Given the description of an element on the screen output the (x, y) to click on. 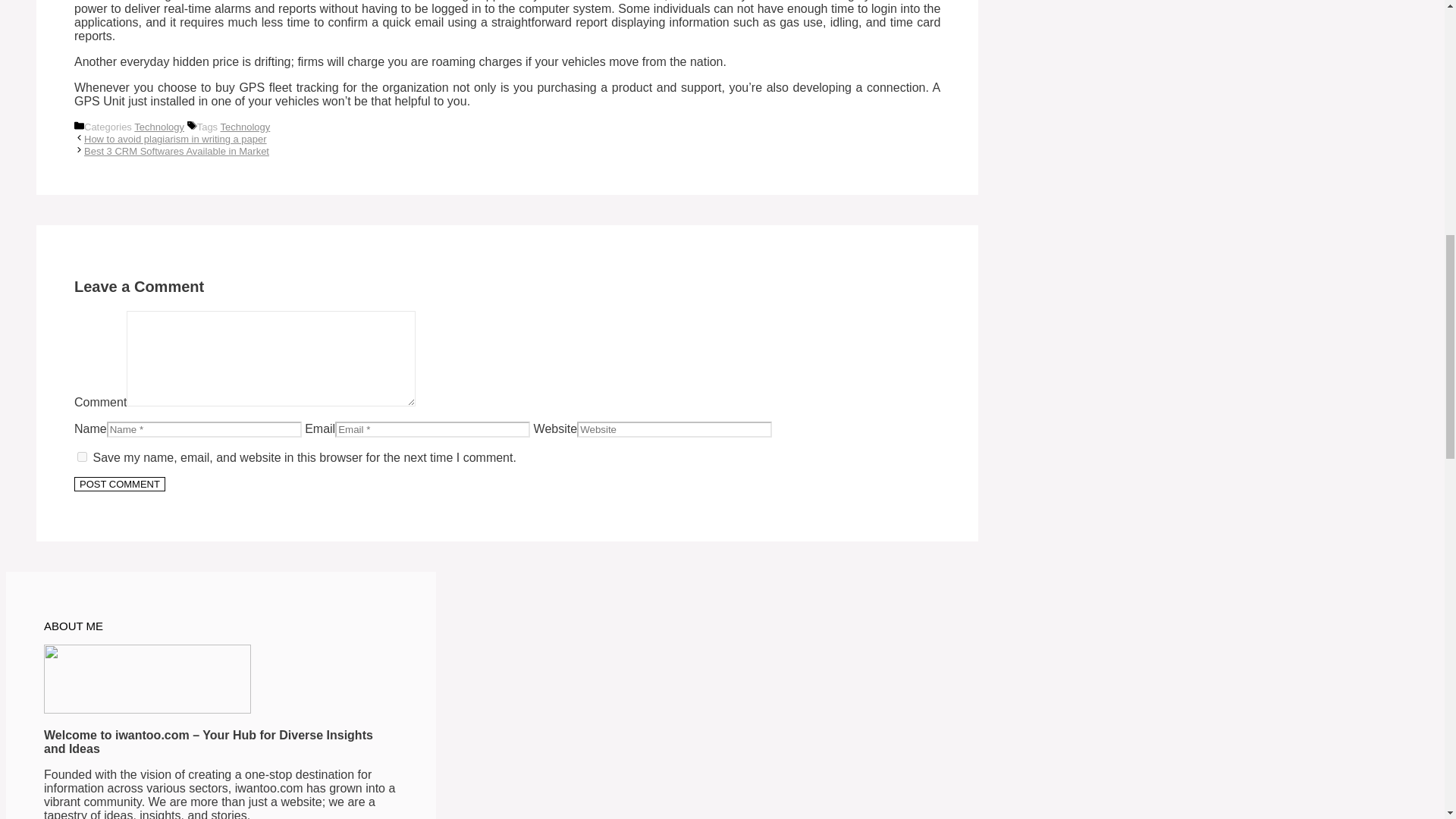
yes (82, 456)
Best 3 CRM Softwares Available in Market (176, 151)
Technology (244, 126)
Technology (158, 126)
Post Comment (119, 483)
Post Comment (119, 483)
How to avoid plagiarism in writing a paper (175, 138)
